Given the description of an element on the screen output the (x, y) to click on. 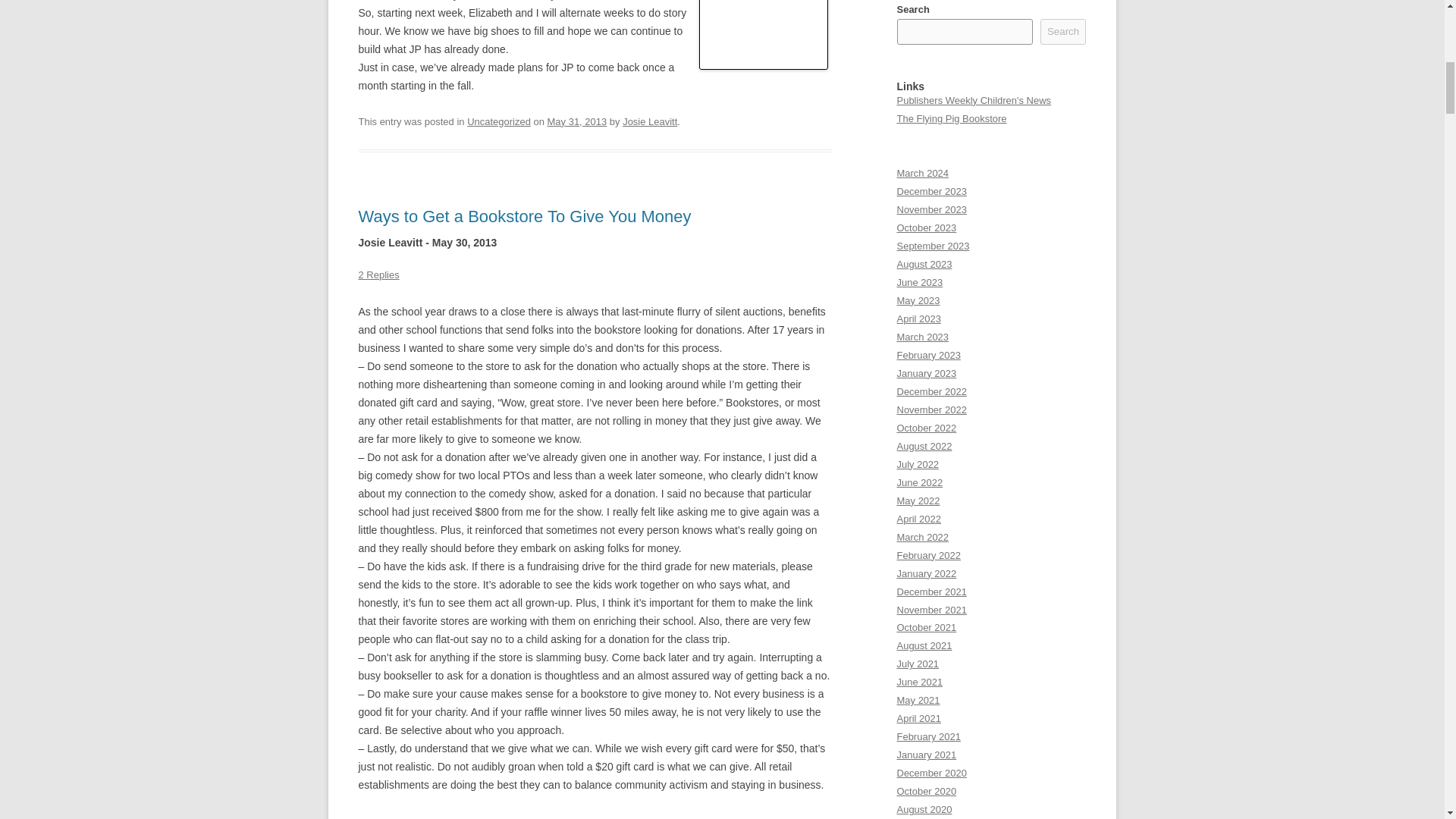
May 31, 2013 (577, 121)
Uncategorized (499, 121)
7:33 am (577, 121)
Josie Leavitt (650, 121)
Ways to Get a Bookstore To Give You Money (524, 216)
View all posts by Josie Leavitt (650, 121)
2 Replies (378, 274)
